Given the description of an element on the screen output the (x, y) to click on. 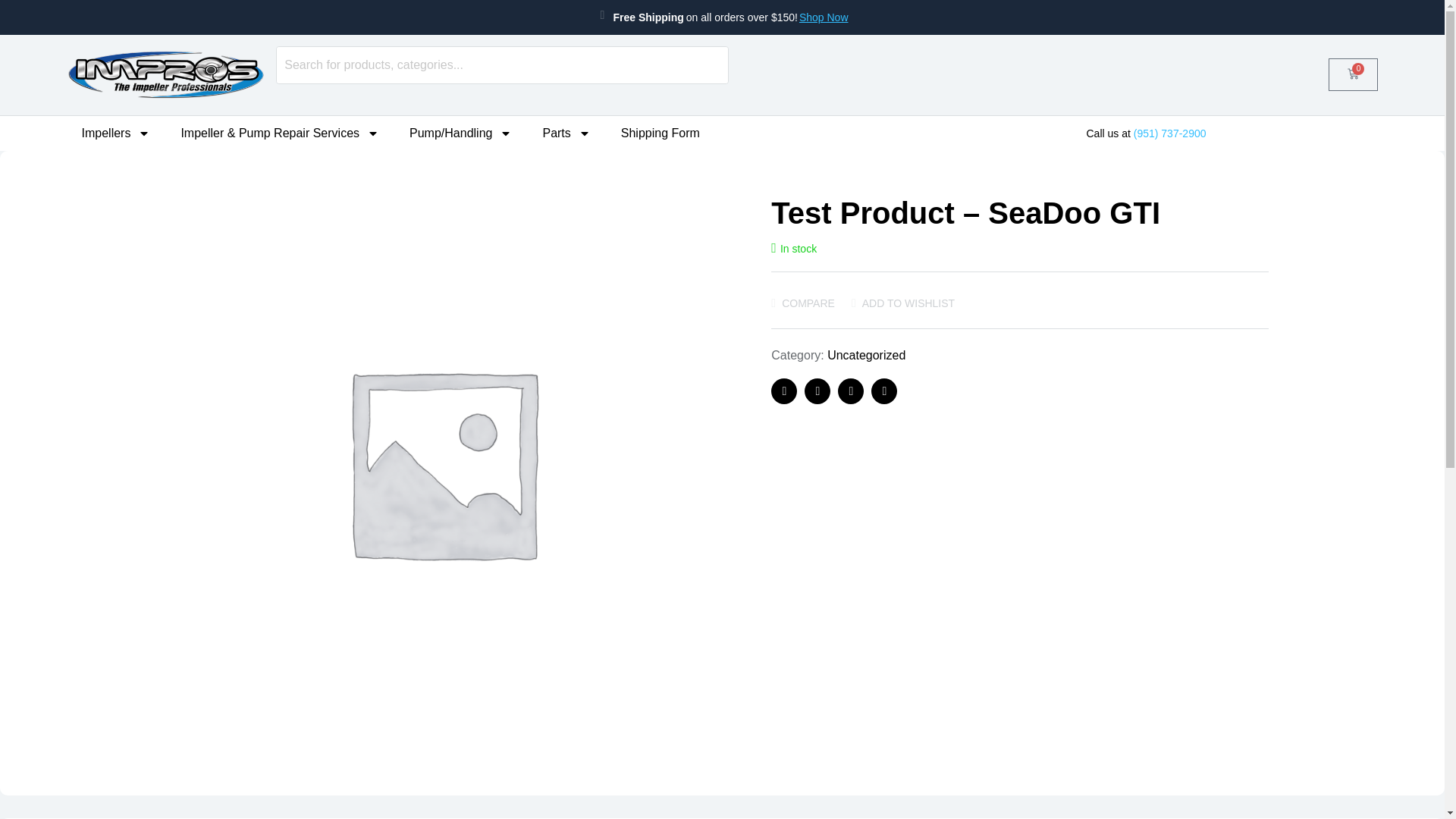
0 (1352, 74)
Share on Pinterest (883, 391)
Shipping Form (659, 133)
Share on LinkedIn (850, 391)
Share on facebook (783, 391)
Impellers (115, 133)
Shop Now (823, 17)
Share on Twitter (817, 391)
Search (501, 64)
Parts (566, 133)
